Given the description of an element on the screen output the (x, y) to click on. 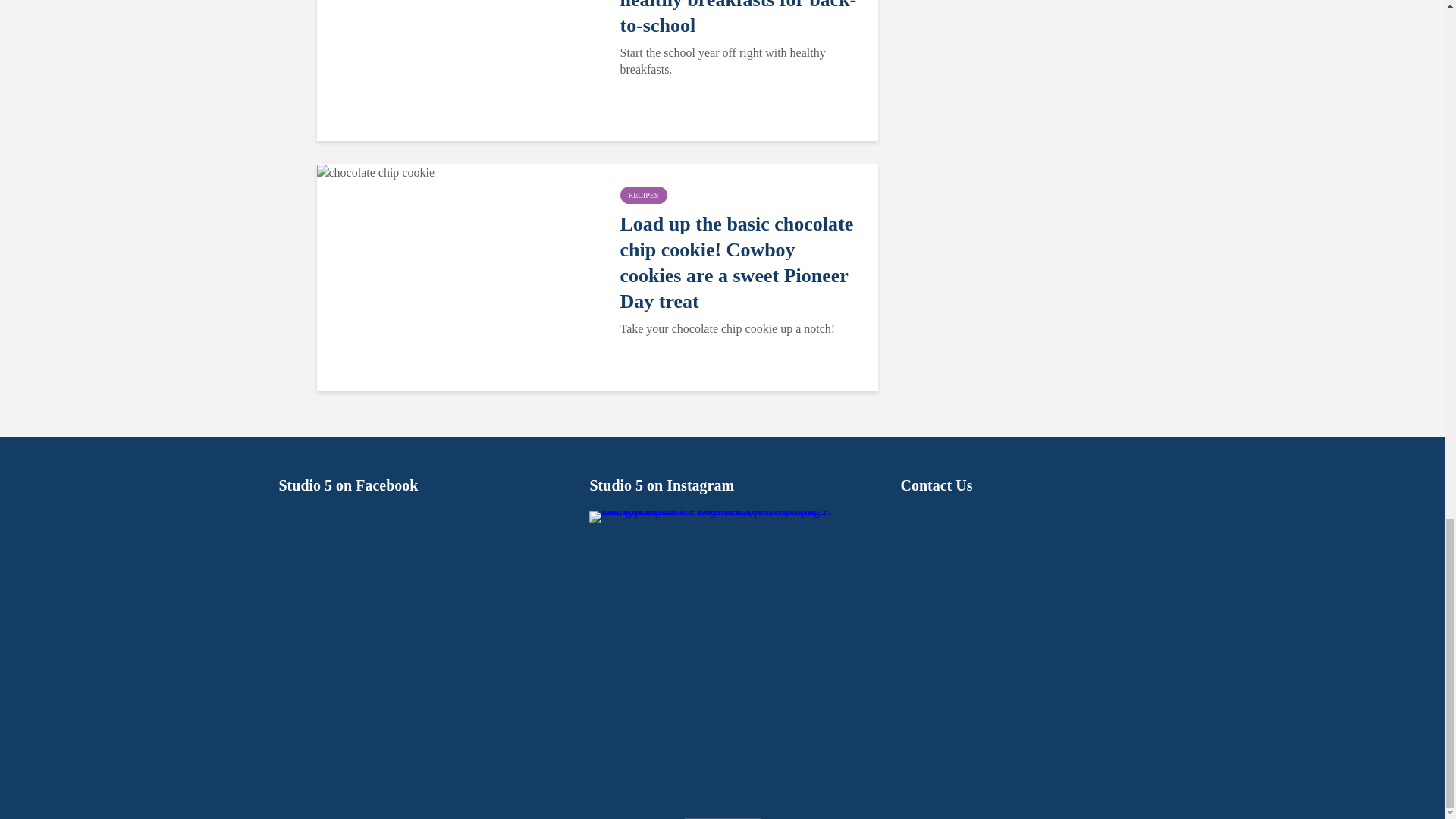
RECIPES (643, 194)
